Given the description of an element on the screen output the (x, y) to click on. 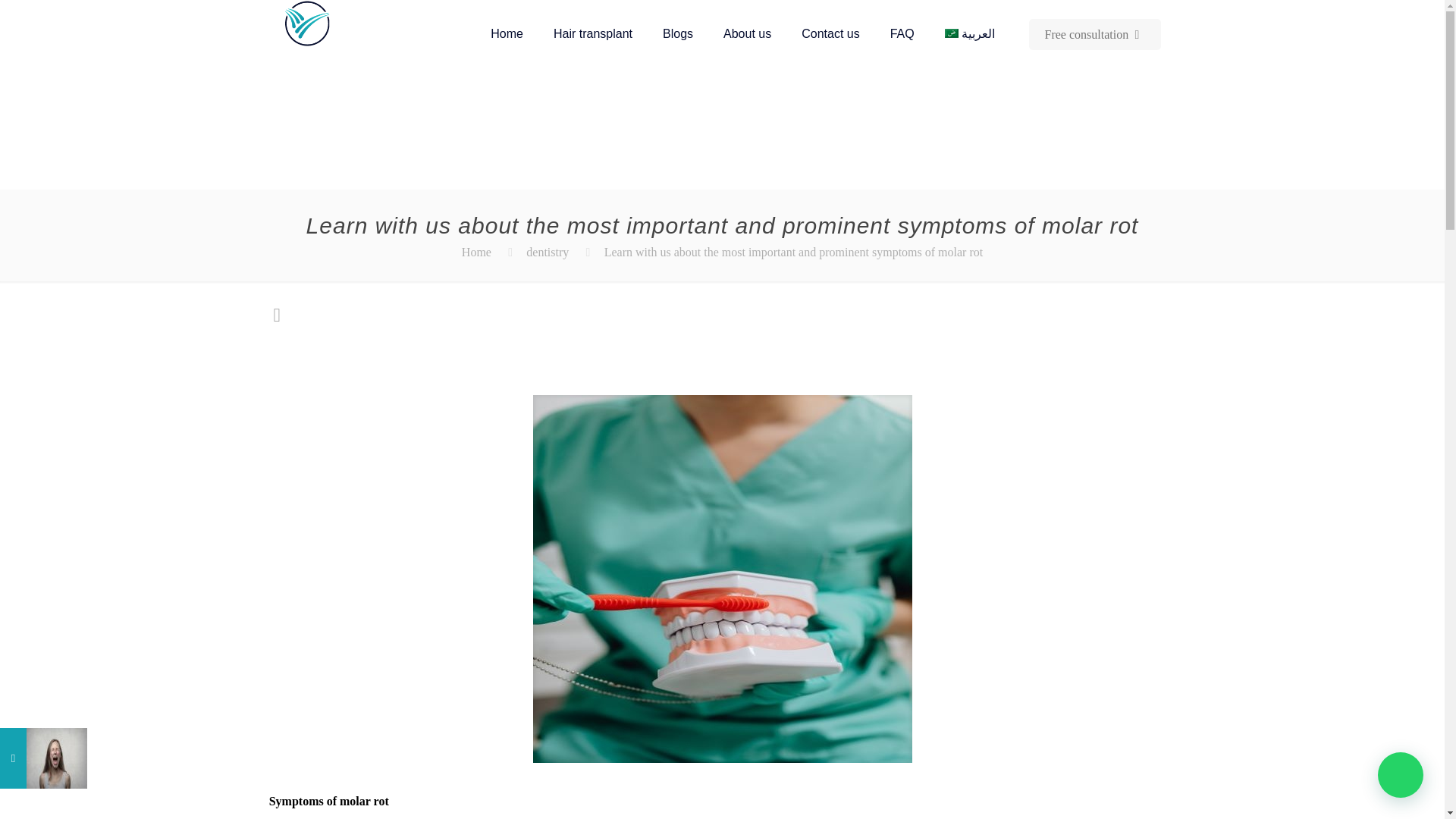
Blogs (677, 33)
About us (746, 33)
dentistry (547, 251)
Right Hair Clinic (306, 22)
Home (507, 33)
Contact us (830, 33)
Home (476, 251)
His teeth (930, 818)
Free consultation (1094, 33)
Hair transplant (592, 33)
